Given the description of an element on the screen output the (x, y) to click on. 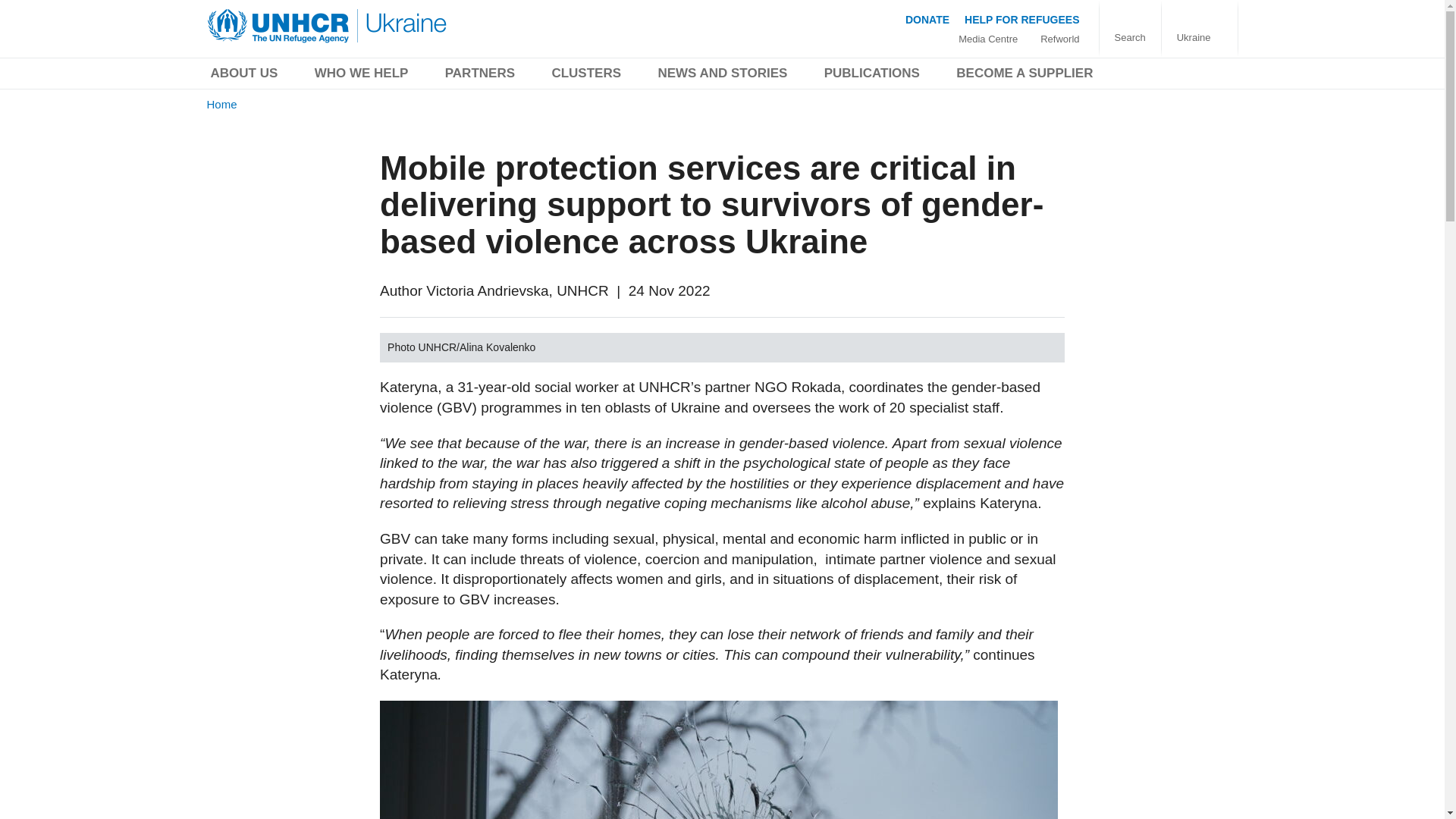
PARTNERS (479, 76)
Search (1130, 38)
Help for Refugees (1021, 19)
PUBLICATIONS (872, 76)
Refworld (1059, 38)
Media Centre (987, 38)
Donate (927, 19)
HELP FOR REFUGEES (1021, 19)
NEWS AND STORIES (721, 76)
BECOME A SUPPLIER (1024, 76)
